Given the description of an element on the screen output the (x, y) to click on. 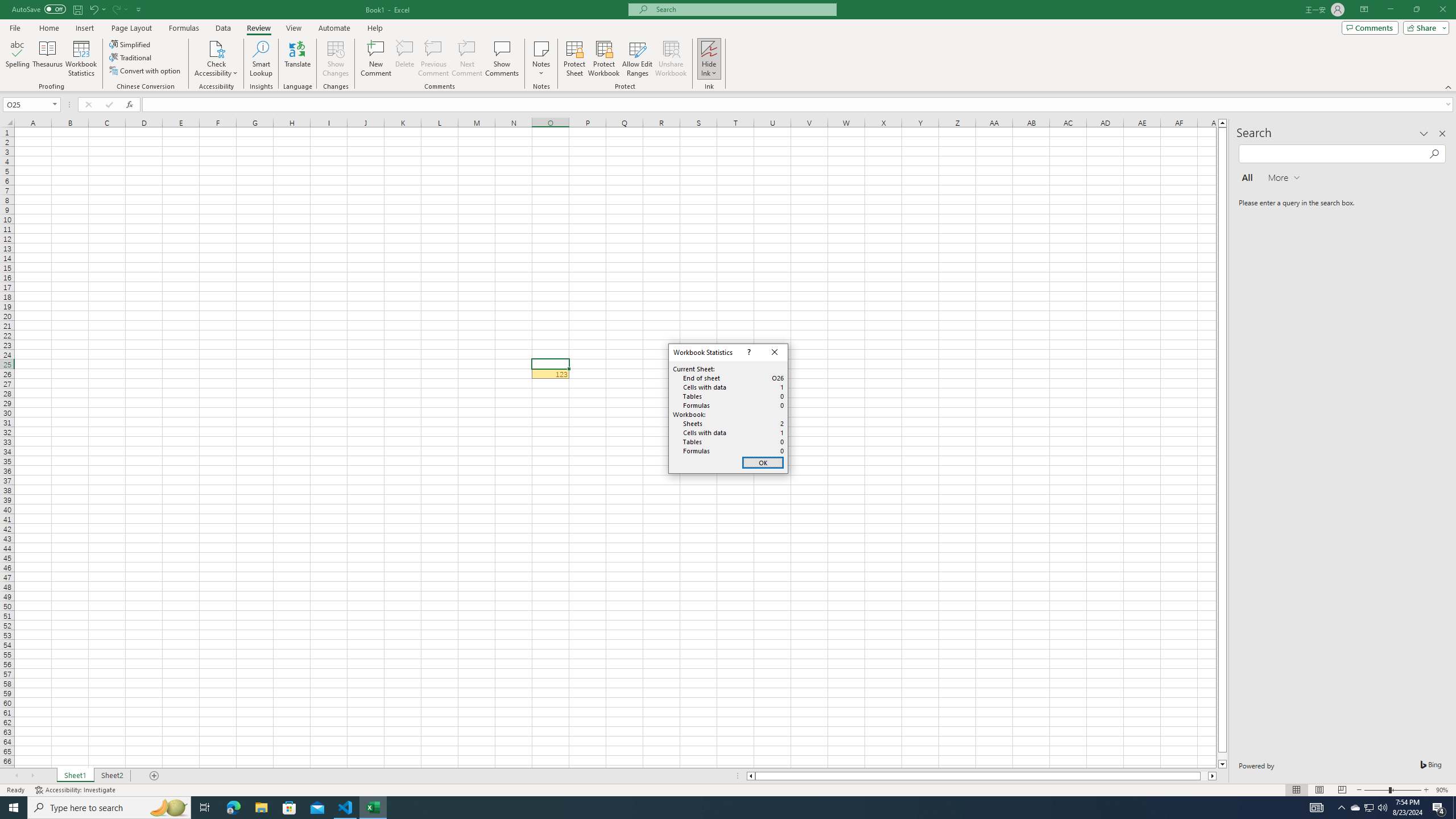
New Comment (376, 58)
Microsoft Edge (233, 807)
View (293, 28)
System (6, 6)
Microsoft search (742, 9)
Page Layout (131, 28)
Traditional (131, 56)
Data (223, 28)
Show Comments (501, 58)
Customize Quick Access Toolbar (139, 9)
Save (77, 9)
Sheet1 (74, 775)
Formula Bar (799, 104)
Class: NetUIScrollBar (981, 775)
Close (774, 352)
